Given the description of an element on the screen output the (x, y) to click on. 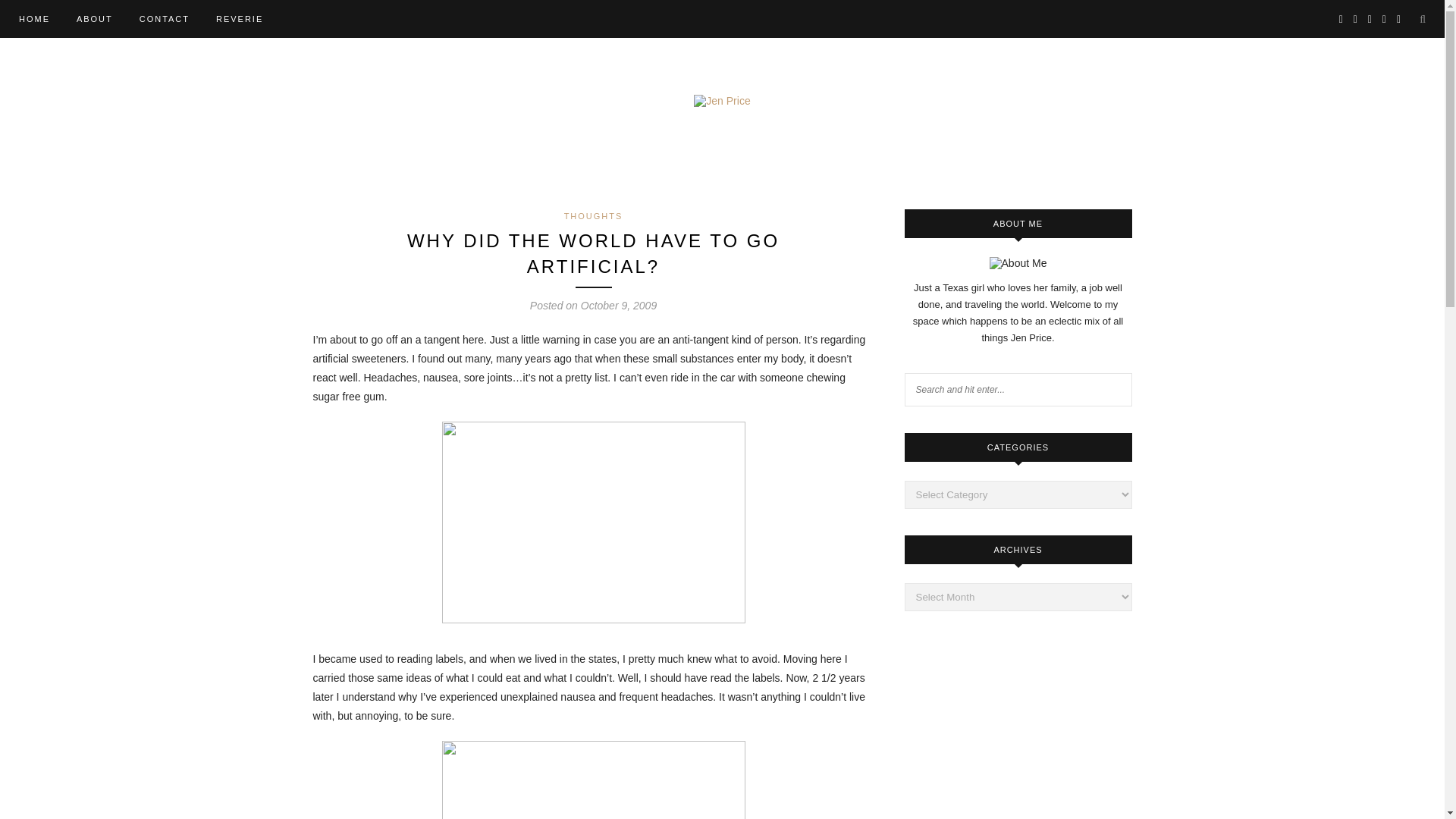
REVERIE (239, 18)
CONTACT (164, 18)
THOUGHTS (593, 215)
ABOUT (95, 18)
